Given the description of an element on the screen output the (x, y) to click on. 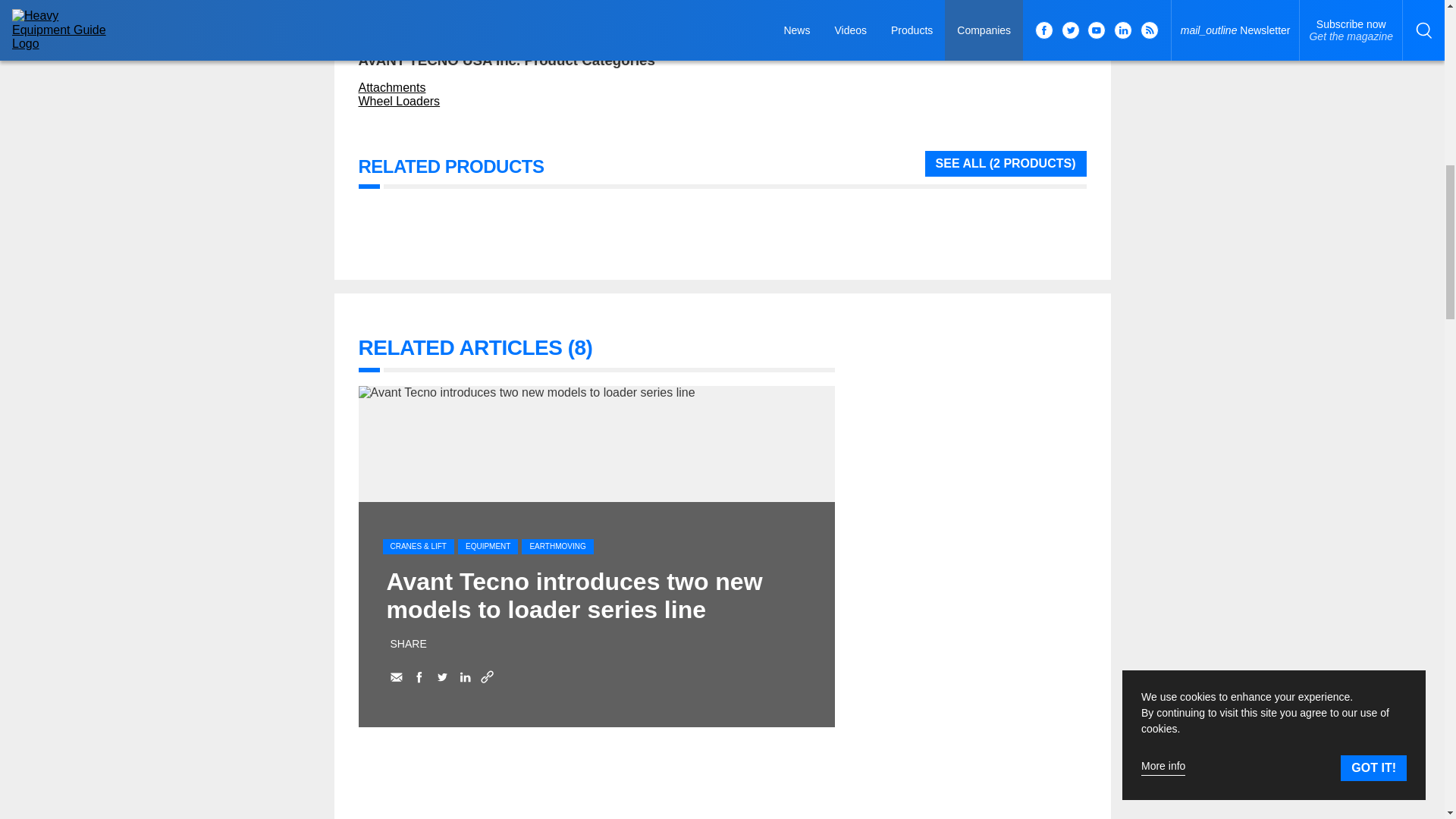
Attachments (391, 87)
Wheel Loaders (398, 101)
EARTHMOVING (556, 546)
EQUIPMENT (488, 546)
